Given the description of an element on the screen output the (x, y) to click on. 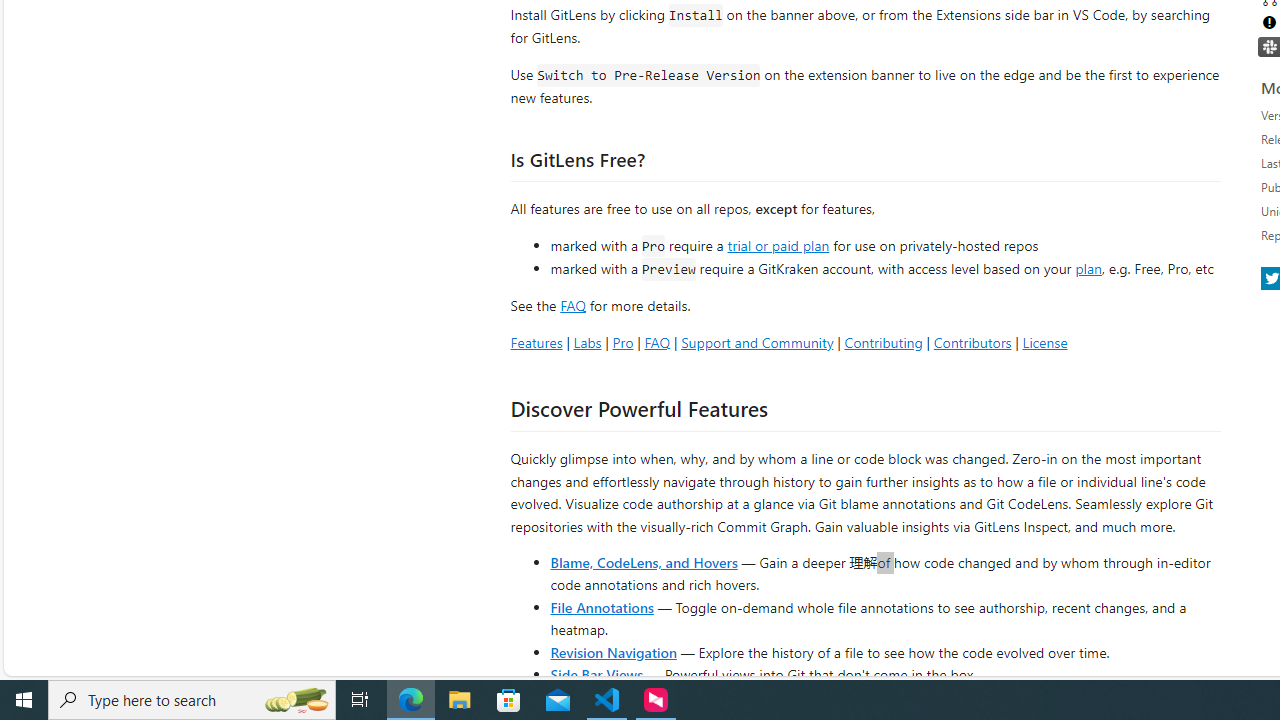
trial or paid plan (778, 244)
Support and Community (757, 341)
Labs (587, 341)
FAQ (656, 341)
Pro (622, 341)
Revision Navigation (613, 651)
Features (536, 341)
Contributing (882, 341)
Contributors (972, 341)
plan (1088, 269)
Blame, CodeLens, and Hovers (644, 561)
File Annotations (602, 606)
